Given the description of an element on the screen output the (x, y) to click on. 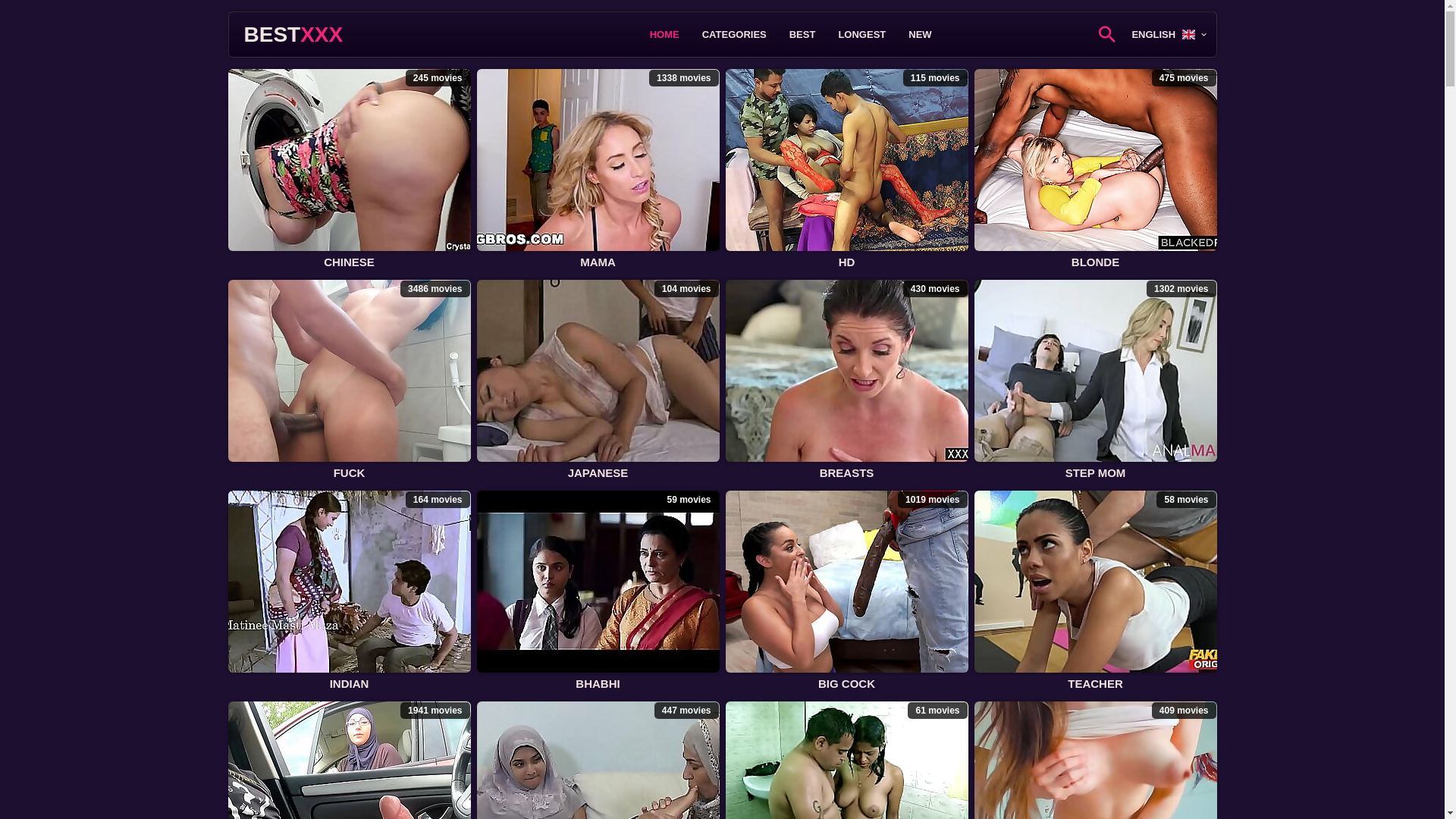
245 movies
CHINESE Element type: text (348, 171)
475 movies
BLONDE Element type: text (1094, 171)
1338 movies
MAMA Element type: text (597, 171)
Search Element type: text (1068, 33)
58 movies
TEACHER Element type: text (1094, 592)
430 movies
BREASTS Element type: text (845, 381)
CATEGORIES Element type: text (734, 34)
164 movies
INDIAN Element type: text (348, 592)
NEW Element type: text (919, 34)
59 movies
BHABHI Element type: text (597, 592)
104 movies
JAPANESE Element type: text (597, 381)
1019 movies
BIG COCK Element type: text (845, 592)
1302 movies
STEP MOM Element type: text (1094, 381)
3486 movies
FUCK Element type: text (348, 381)
BESTXXX Element type: text (293, 34)
LONGEST Element type: text (861, 34)
HOME Element type: text (664, 34)
BEST Element type: text (802, 34)
ENGLISH Element type: text (1169, 34)
115 movies
HD Element type: text (845, 171)
